Given the description of an element on the screen output the (x, y) to click on. 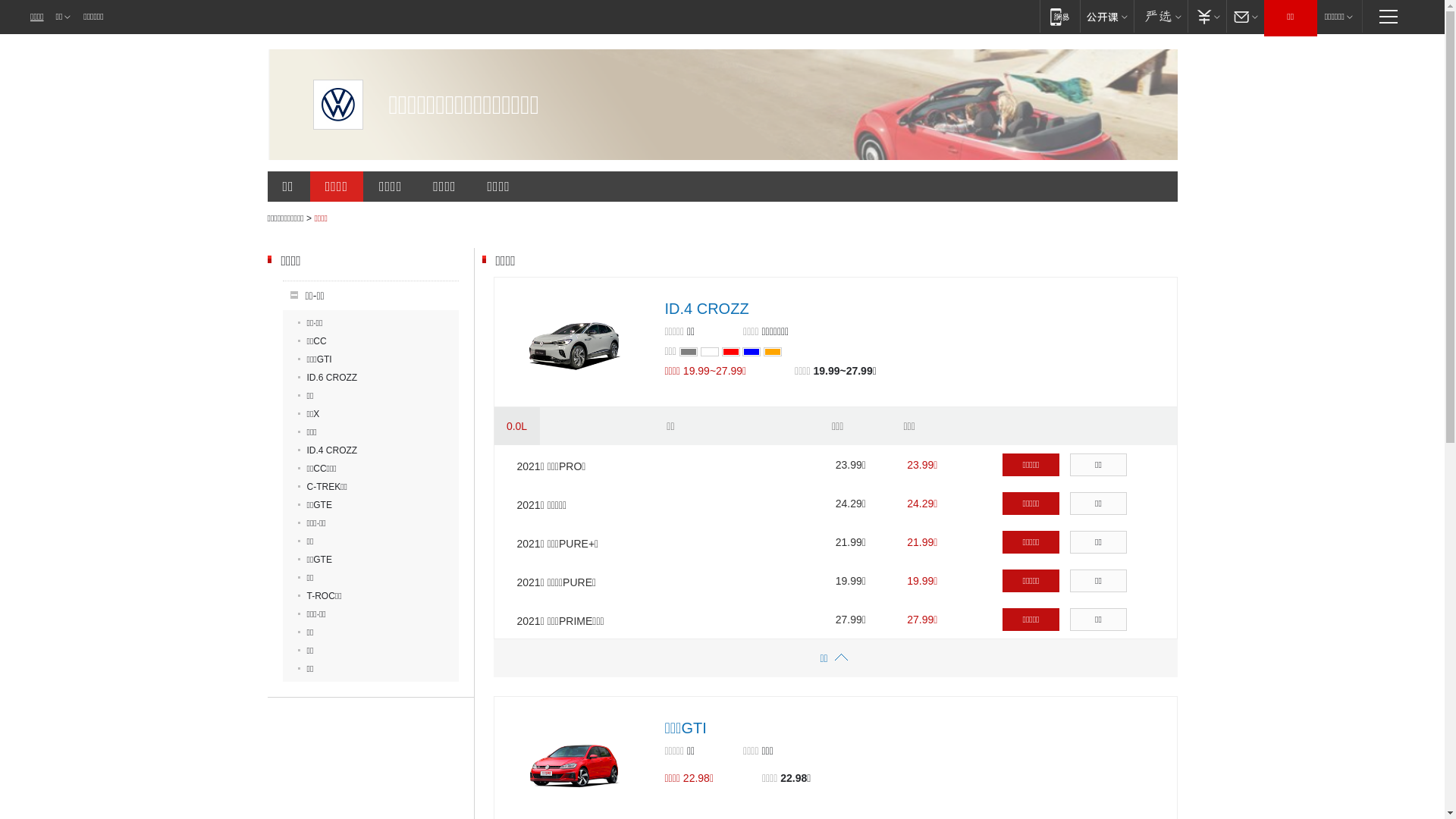
ID.6 CROZZ Element type: text (327, 377)
ID.4 CROZZ Element type: text (327, 450)
ID.4 CROZZ Element type: text (706, 308)
